Given the description of an element on the screen output the (x, y) to click on. 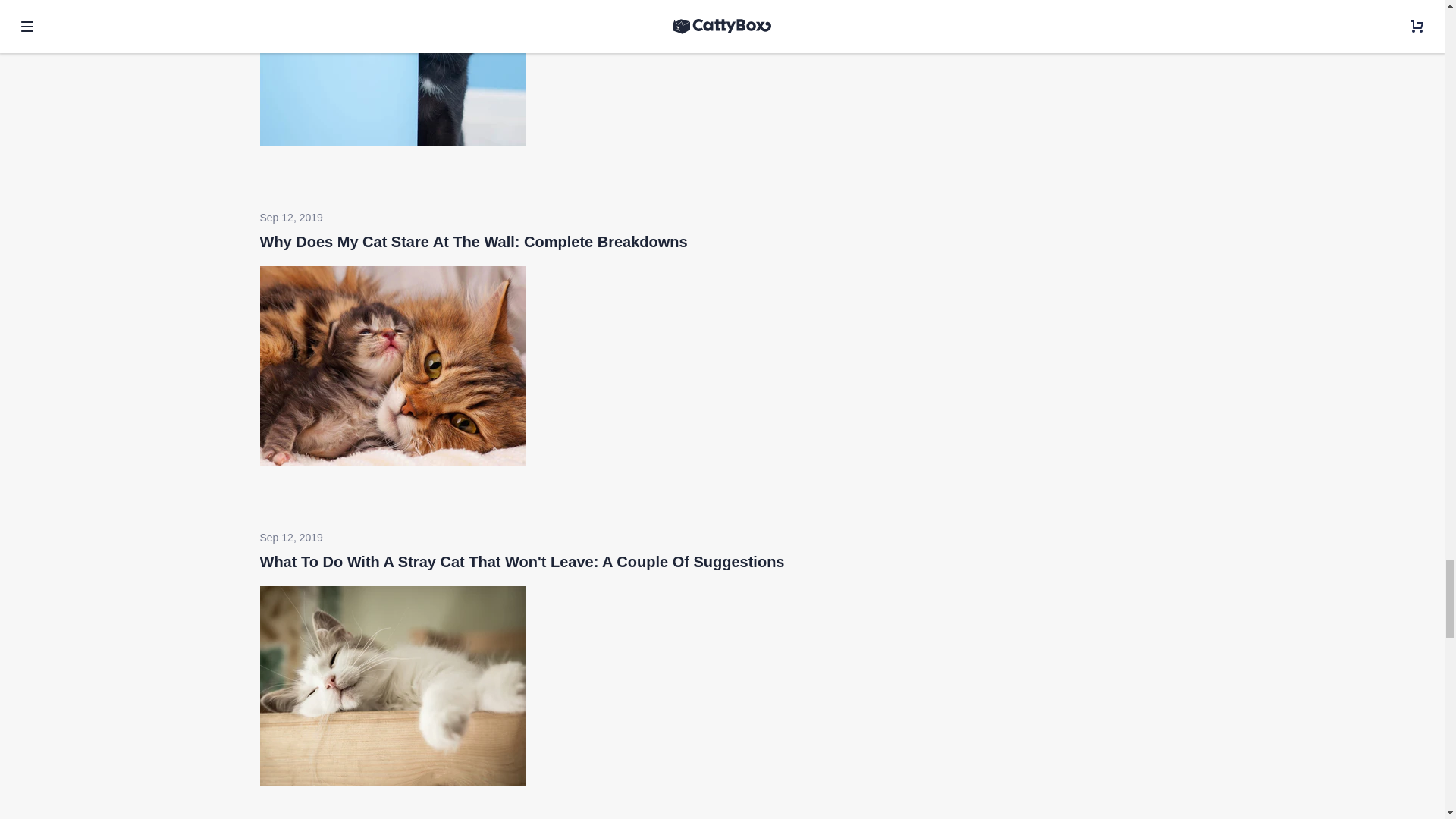
Why Does My Cat Stare At The Wall: Complete Breakdowns (473, 241)
